Given the description of an element on the screen output the (x, y) to click on. 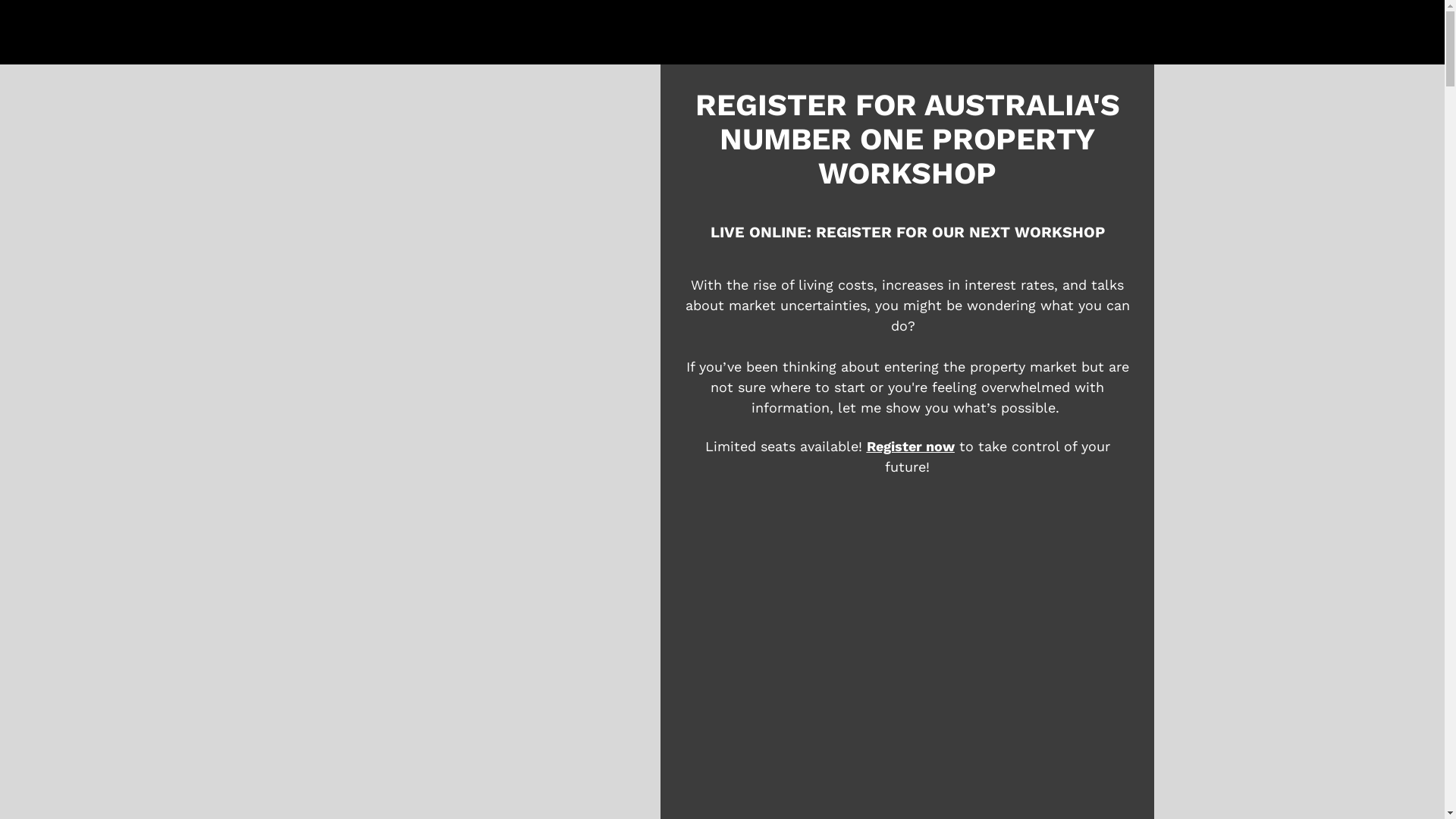
Register now Element type: text (910, 446)
YouTube video player Element type: hover (907, 679)
